Given the description of an element on the screen output the (x, y) to click on. 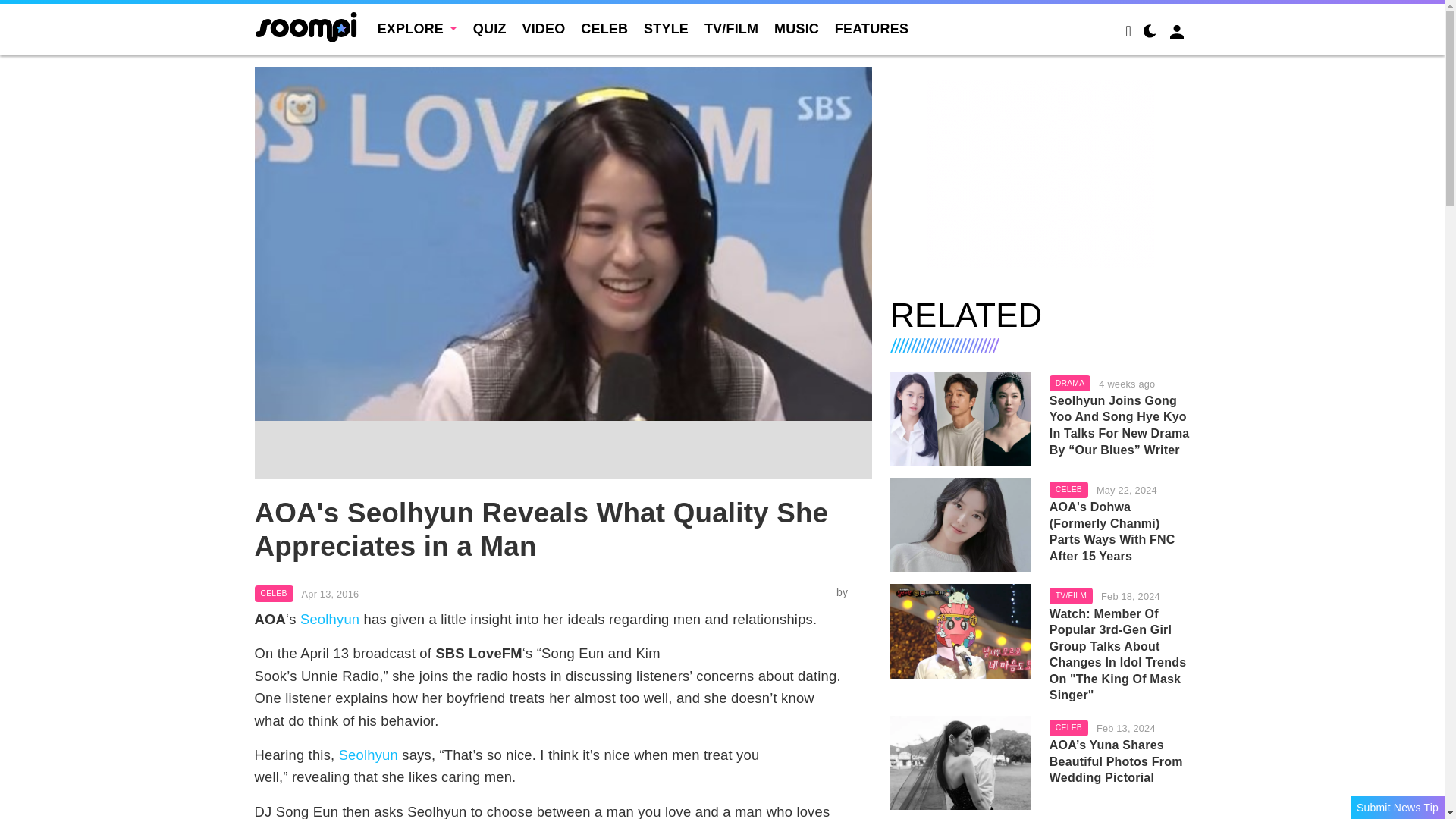
VIDEO (542, 28)
CELEB (603, 28)
MUSIC (796, 28)
FEATURES (871, 28)
Seolhyun (368, 754)
Celeb (274, 593)
Seolhyun (329, 618)
Night Mode Toggle (1149, 33)
3rd party ad content (1040, 173)
QUIZ (489, 28)
CELEB (274, 593)
EXPLORE (417, 28)
Drama (1069, 383)
STYLE (665, 28)
Celeb (1068, 489)
